Given the description of an element on the screen output the (x, y) to click on. 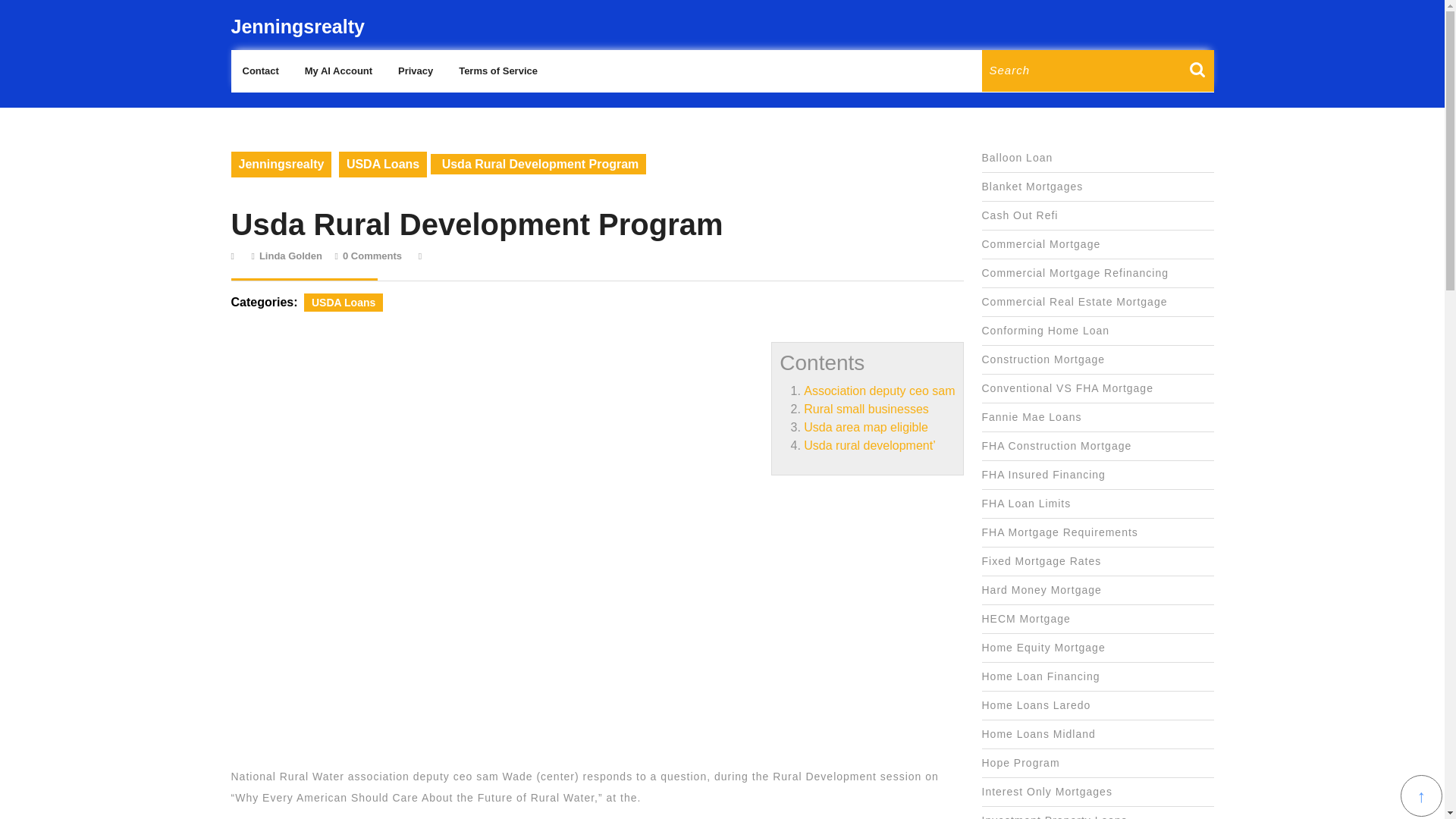
Balloon Loan (1016, 157)
Conforming Home Loan (1045, 330)
USDA Loans (382, 164)
Rural small businesses (865, 408)
Jenningsrealty (290, 255)
Contact (297, 25)
USDA Loans (259, 70)
Commercial Mortgage (343, 302)
Commercial Mortgage Refinancing (1040, 244)
Association deputy ceo sam (1075, 272)
Jenningsrealty (879, 390)
Commercial Real Estate Mortgage (280, 164)
Blanket Mortgages (1074, 301)
Usda area map eligible (1032, 186)
